Given the description of an element on the screen output the (x, y) to click on. 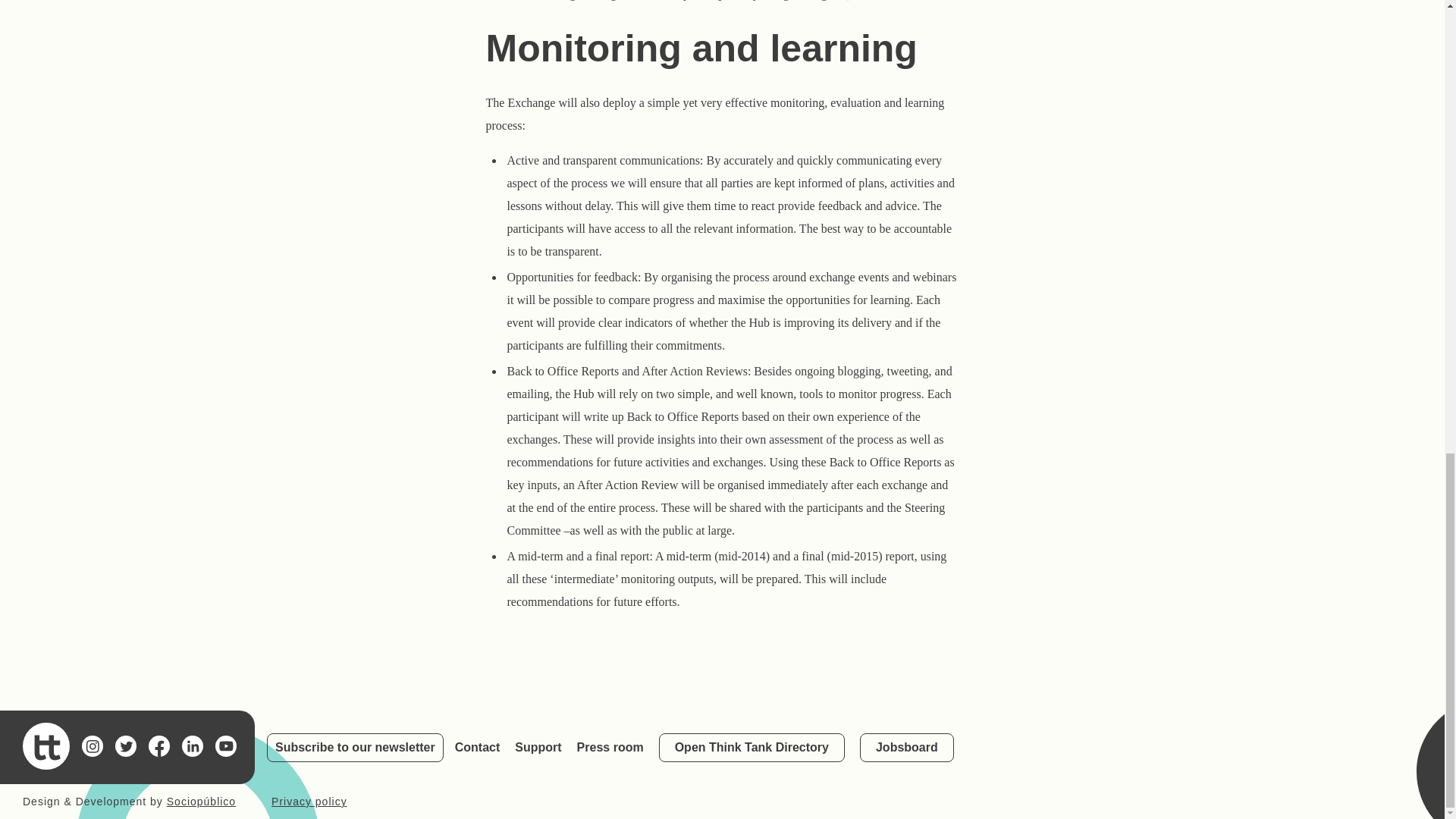
Support (537, 746)
Open Think Tank Directory (751, 747)
Privacy policy (308, 801)
Contact (477, 746)
Press room (609, 746)
Subscribe to our newsletter (355, 747)
Jobsboard (906, 747)
